Given the description of an element on the screen output the (x, y) to click on. 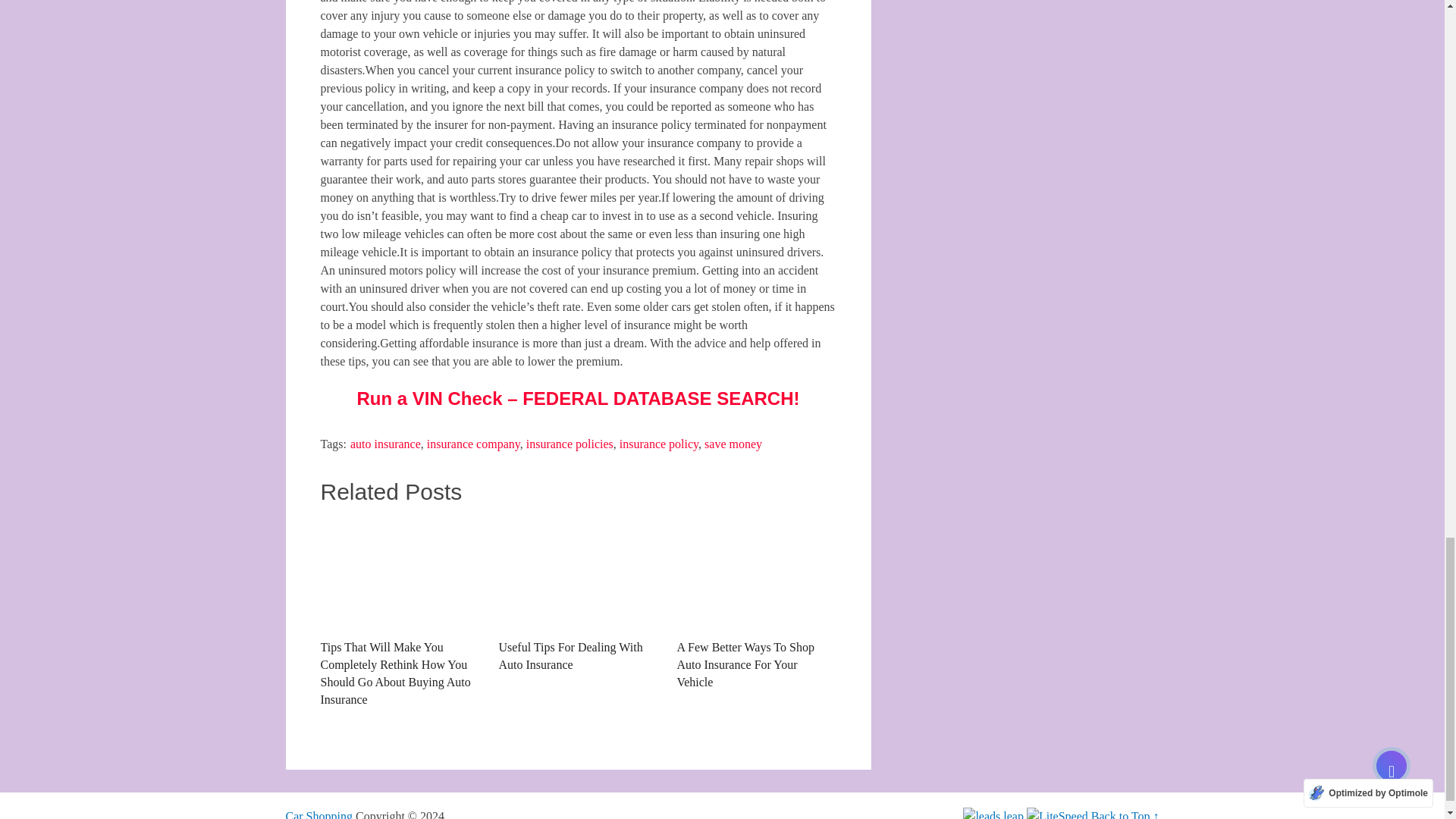
Useful Tips For Dealing With Auto Insurance (577, 594)
A Few Better Ways To Shop Auto Insurance For Your Vehicle (756, 603)
Useful Tips For Dealing With Auto Insurance (577, 594)
Useful Tips For Dealing With Auto Insurance (577, 573)
A Few Better Ways To Shop Auto Insurance For Your Vehicle (756, 603)
A Few Better Ways To Shop Auto Insurance For Your Vehicle (756, 573)
Car Shopping (318, 814)
Find Your New Car Online (318, 814)
insurance policies (568, 443)
